Given the description of an element on the screen output the (x, y) to click on. 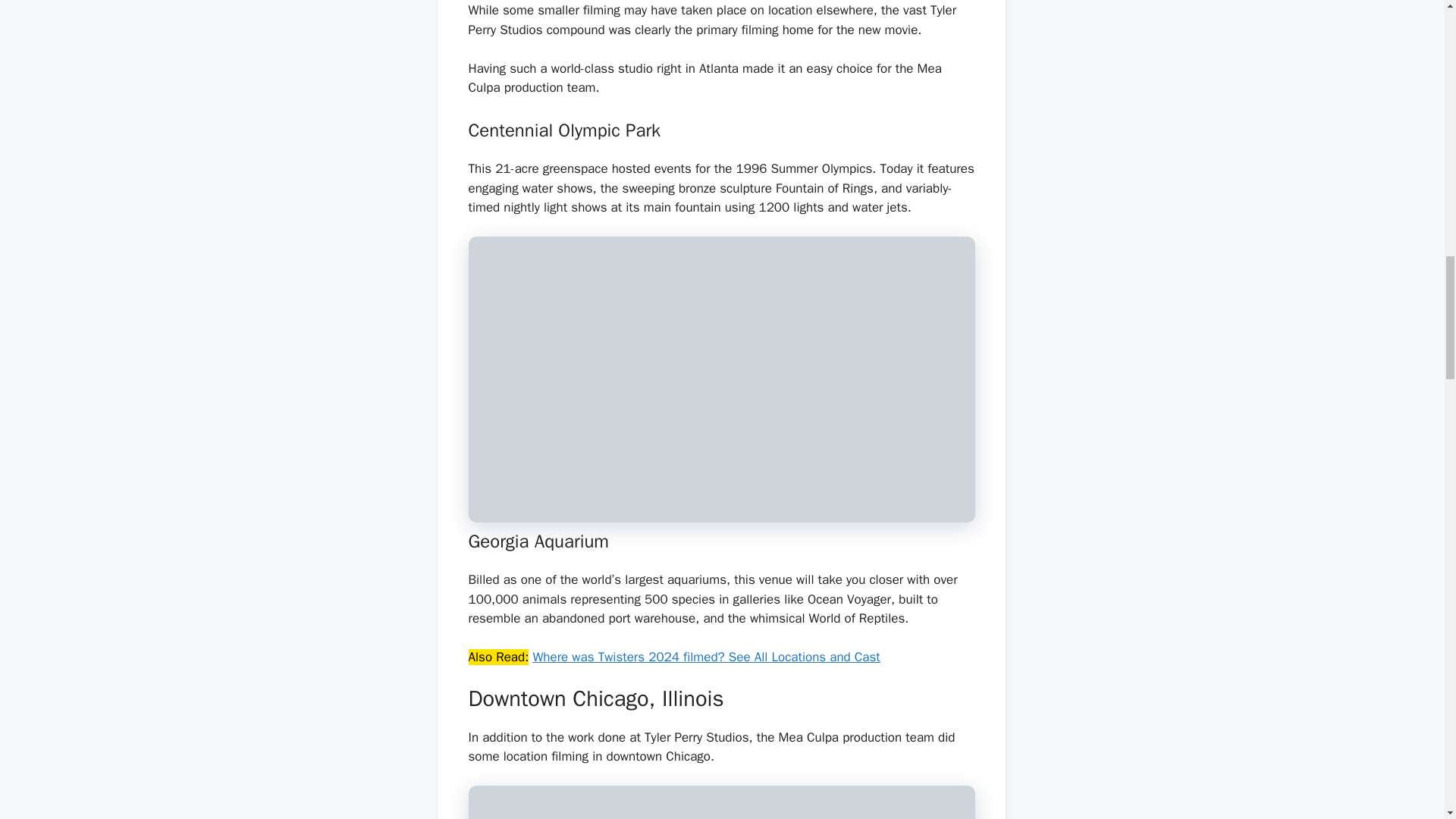
Where was Mea Culpa filmed? See All Netflix Movie Locations (721, 802)
Where was Twisters 2024 filmed? See All Locations and Cast (705, 657)
